Given the description of an element on the screen output the (x, y) to click on. 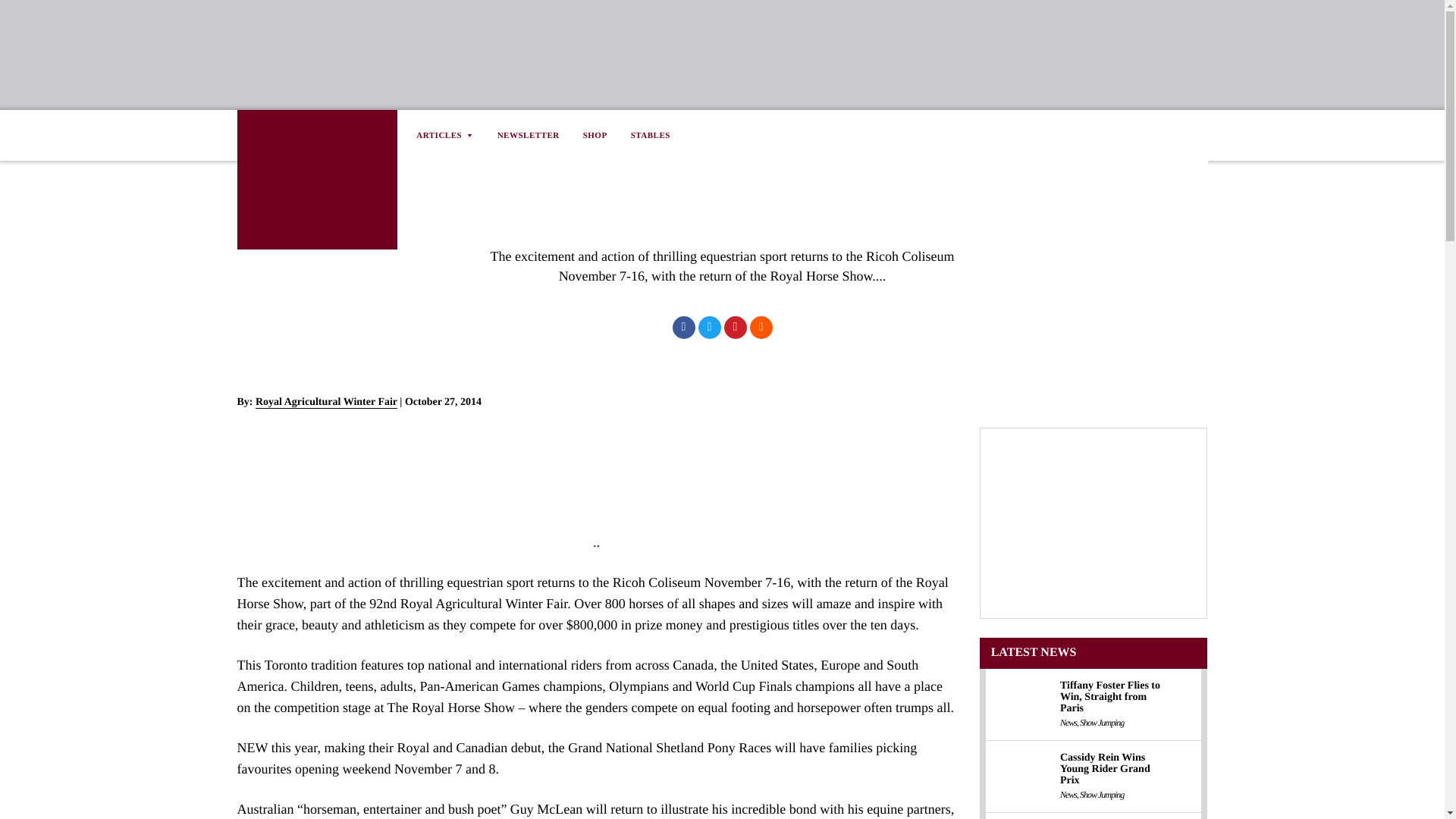
STABLES (649, 134)
SHOP (594, 134)
Royal Agricultural Winter Fair (326, 401)
ARTICLES (450, 134)
NEWSLETTER (527, 134)
